Given the description of an element on the screen output the (x, y) to click on. 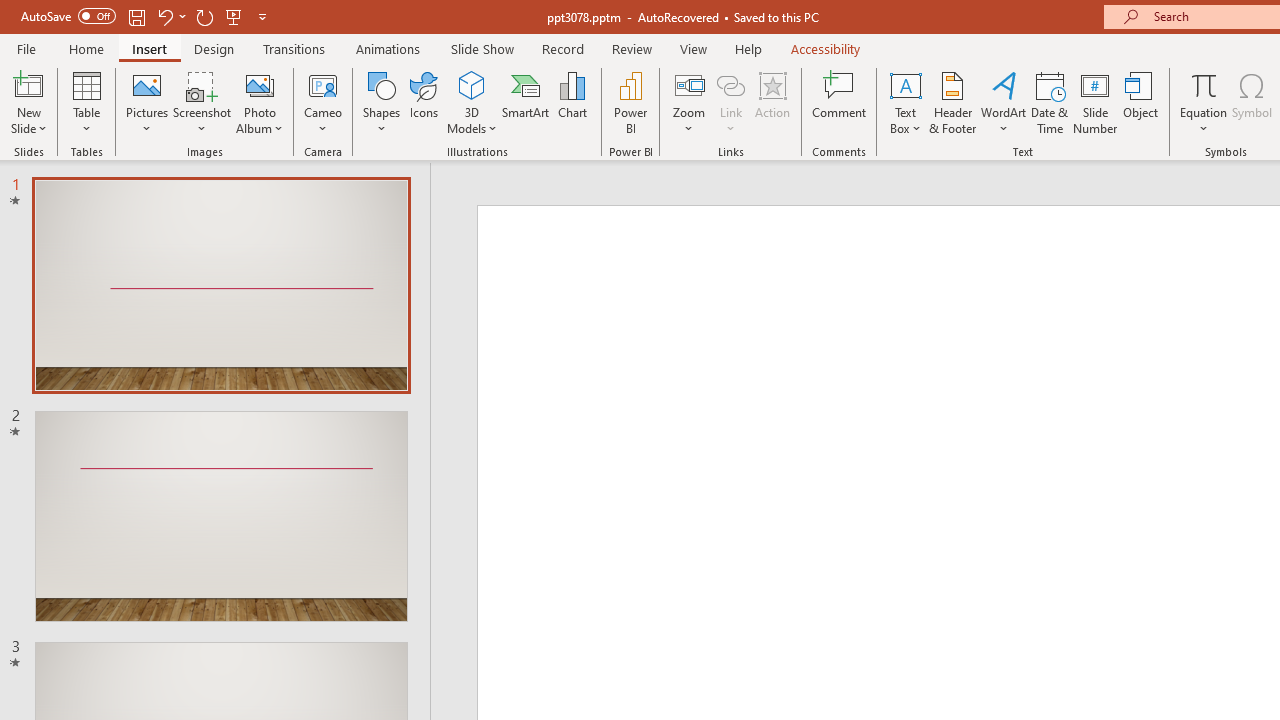
Icons (424, 102)
WordArt (1004, 102)
Chart... (572, 102)
Header & Footer... (952, 102)
Table (86, 102)
